Given the description of an element on the screen output the (x, y) to click on. 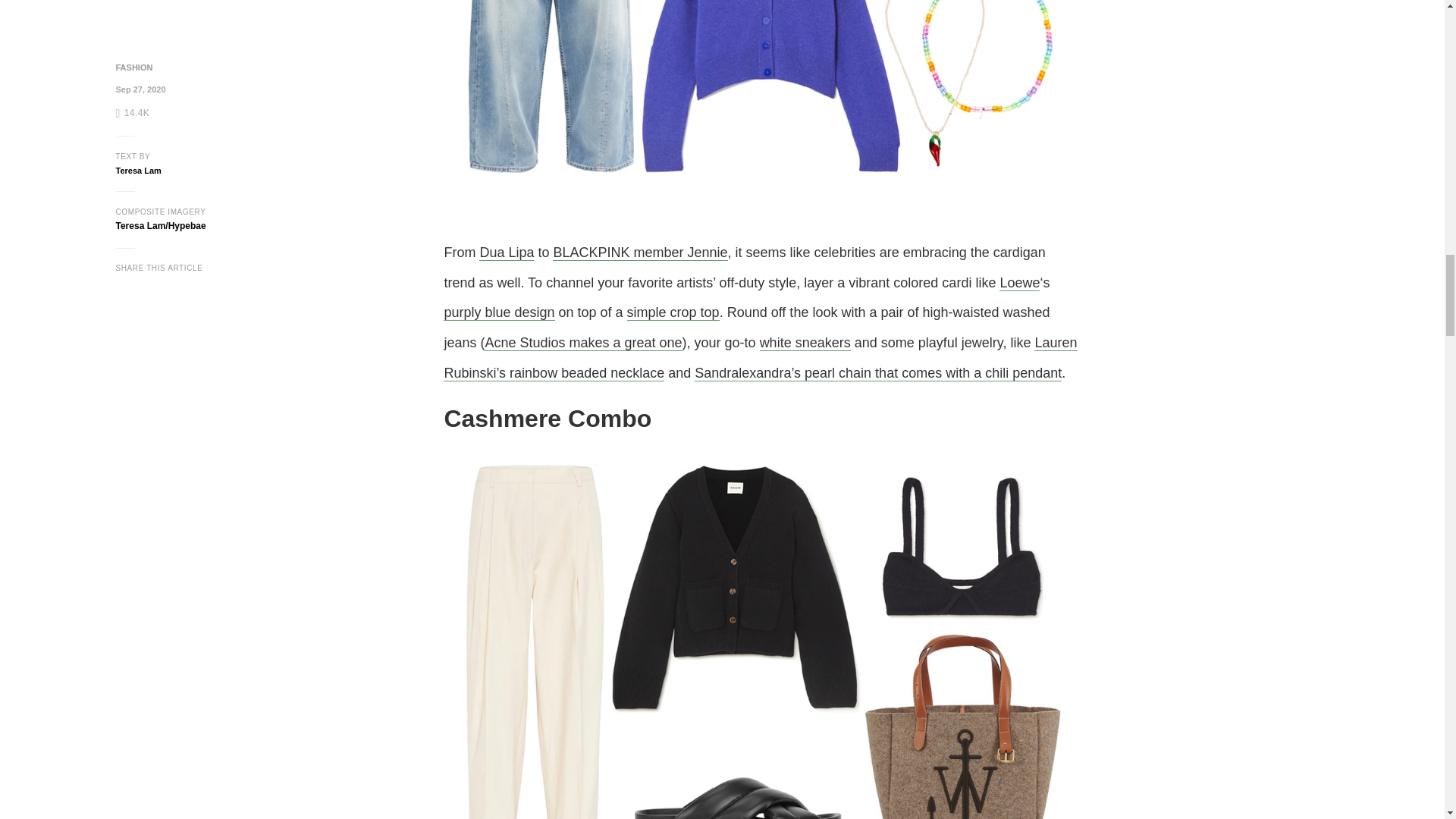
Acne Studios makes a great one (582, 342)
Loewe (1018, 283)
Dua Lipa (506, 252)
BLACKPINK member Jennie (639, 252)
purply blue design (499, 312)
simple crop top (673, 312)
white sneakers (805, 342)
